Given the description of an element on the screen output the (x, y) to click on. 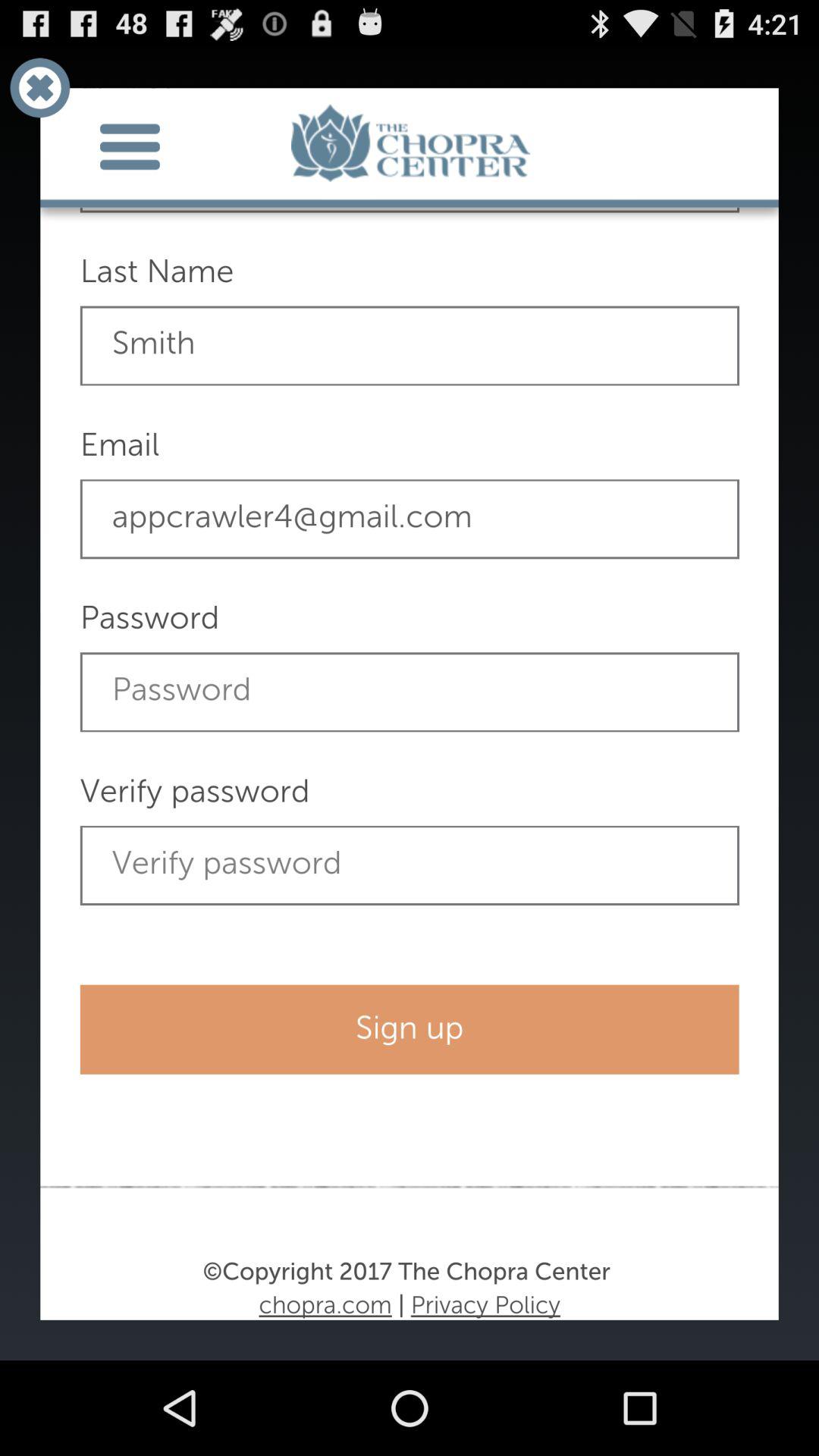
close page (39, 87)
